Given the description of an element on the screen output the (x, y) to click on. 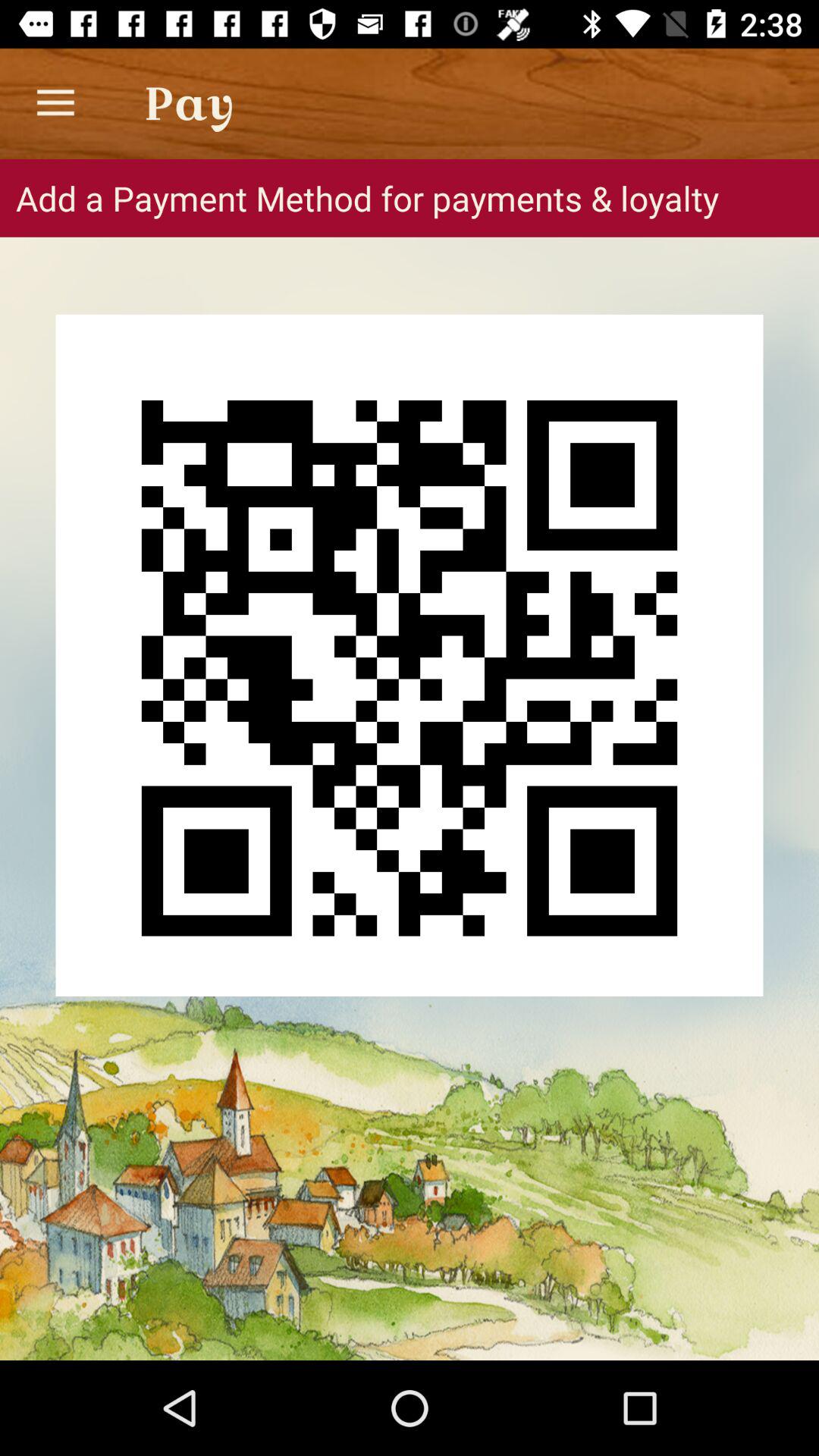
turn off the icon to the left of the pay item (55, 103)
